Given the description of an element on the screen output the (x, y) to click on. 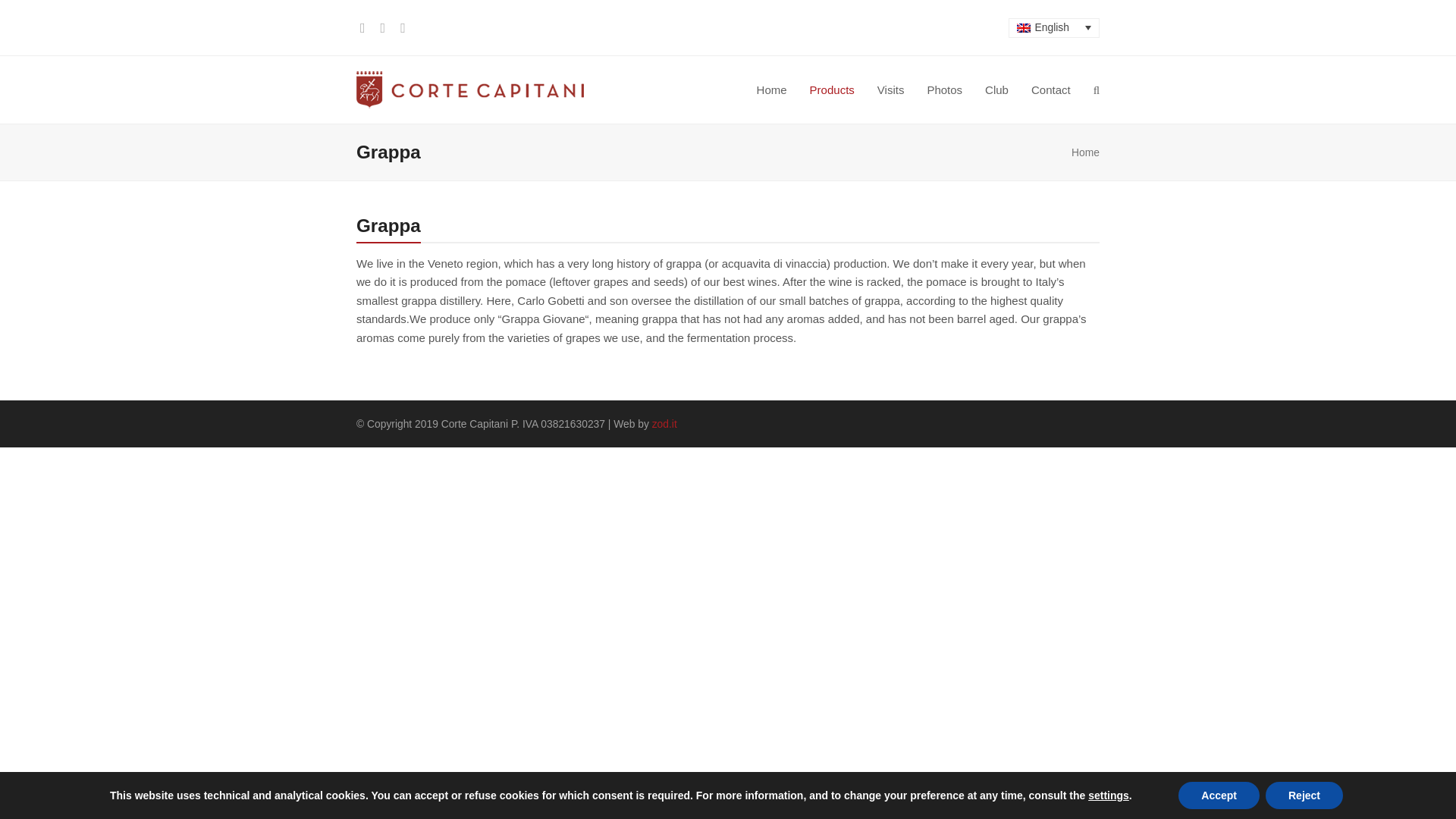
Contact (1050, 89)
English (1054, 27)
zod.it (664, 423)
Products (831, 89)
Home (1085, 152)
